Given the description of an element on the screen output the (x, y) to click on. 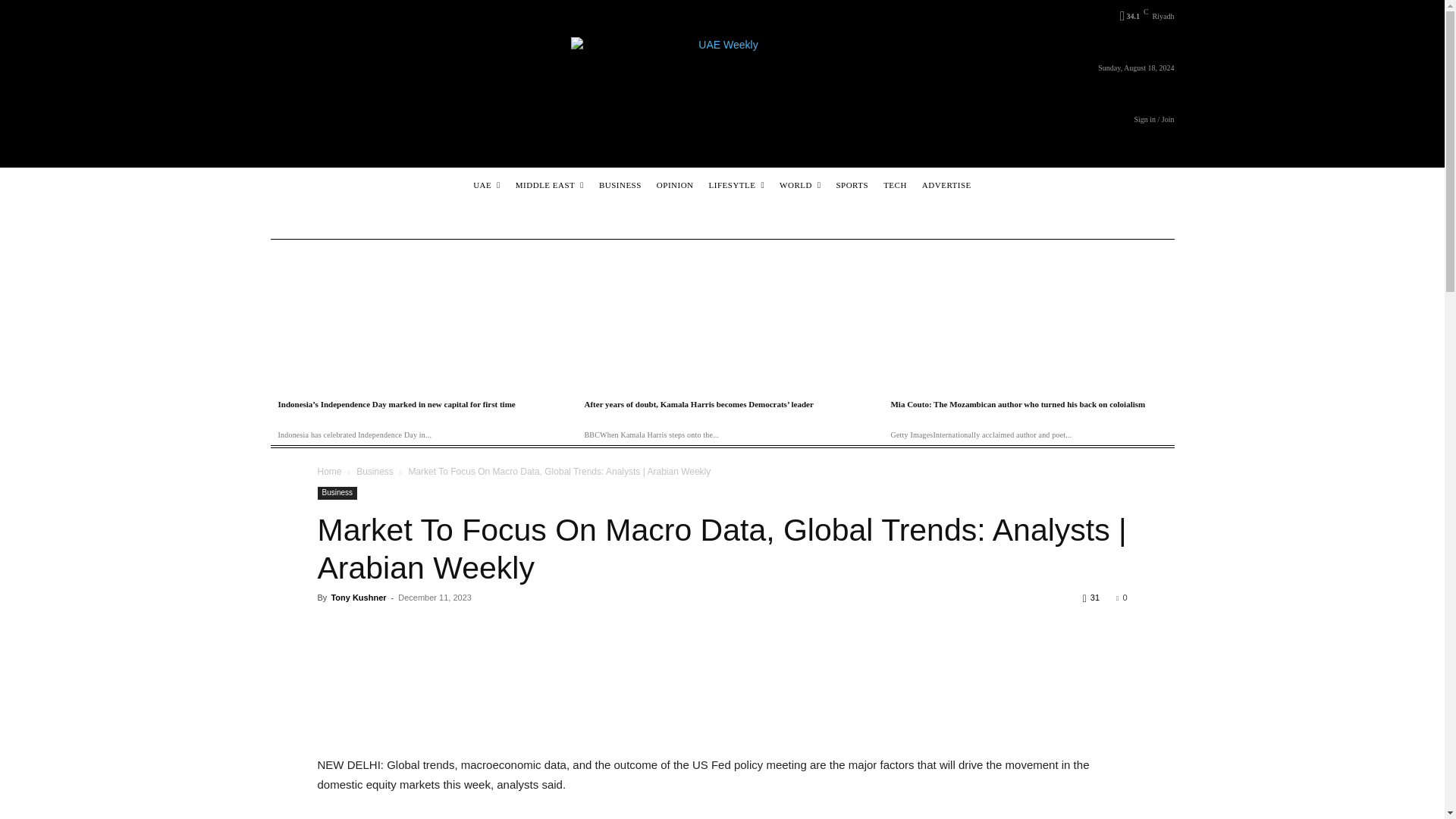
OPINION (674, 185)
MIDDLE EAST (550, 185)
LIFESYTLE (736, 185)
UAE (485, 185)
BUSINESS (620, 185)
Arabian Weekly (721, 65)
